Given the description of an element on the screen output the (x, y) to click on. 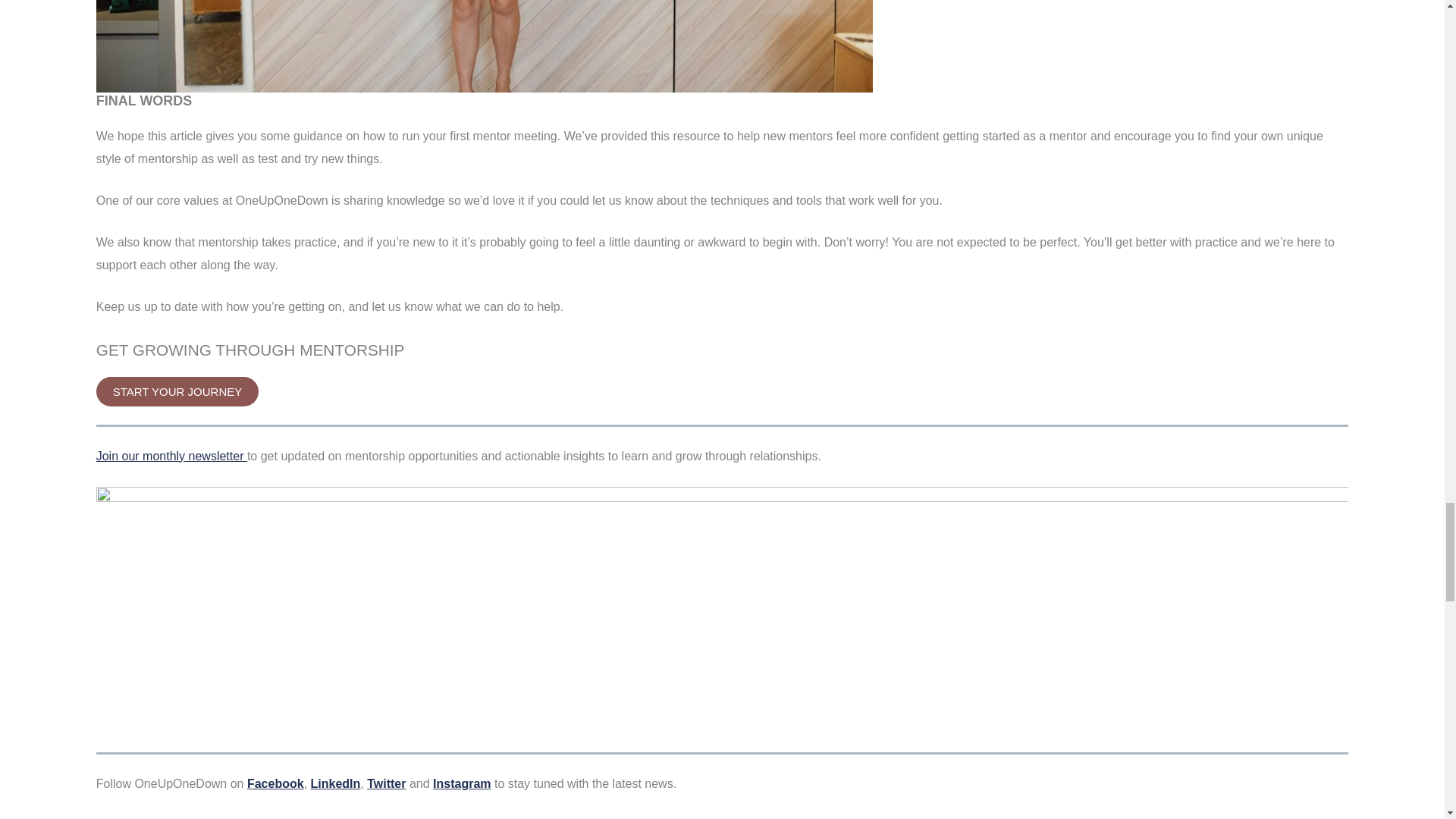
Facebook (275, 783)
Join our monthly newsletter (171, 455)
LinkedIn (336, 783)
START YOUR JOURNEY (177, 391)
